Given the description of an element on the screen output the (x, y) to click on. 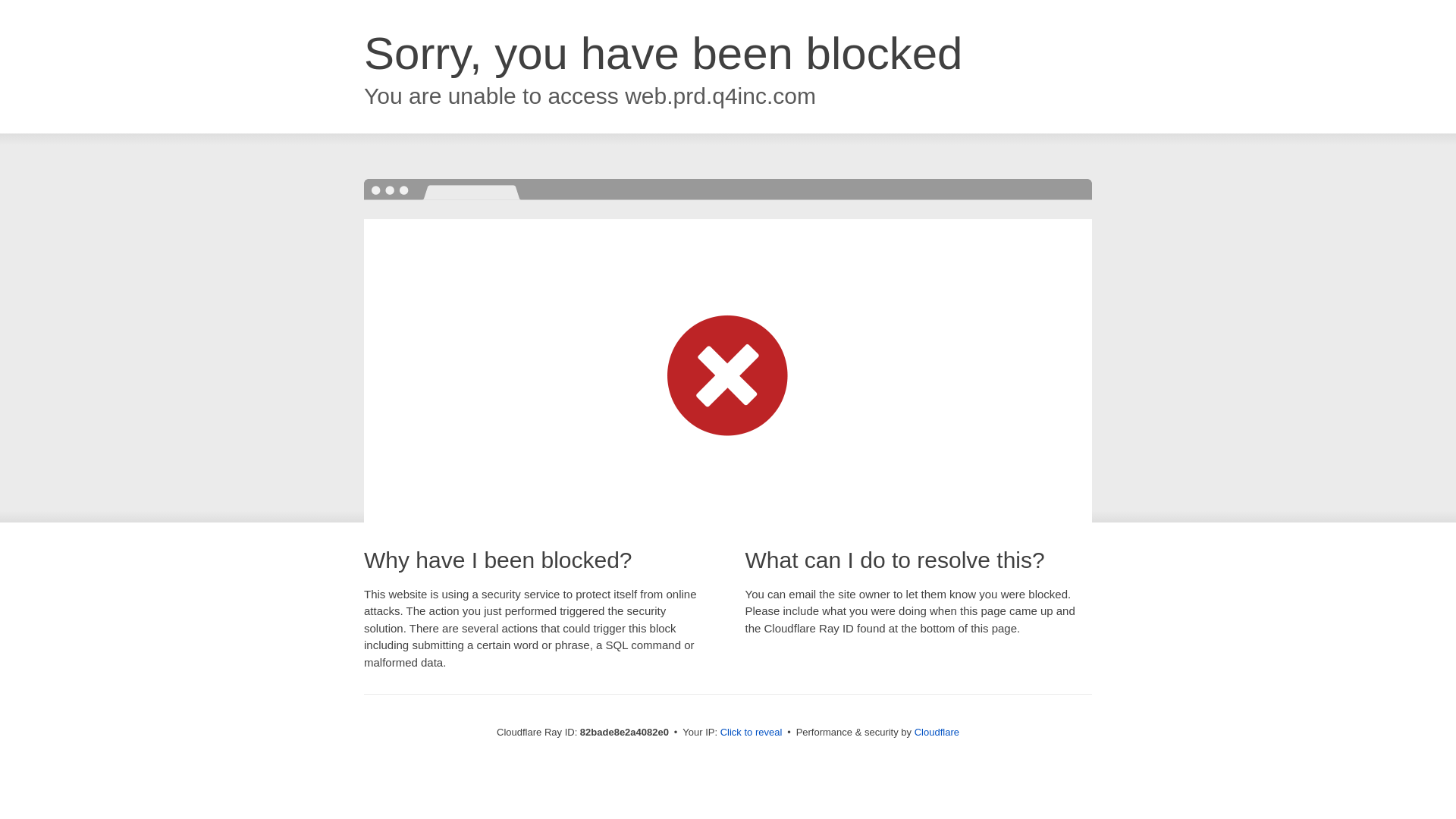
Click to reveal Element type: text (751, 732)
Cloudflare Element type: text (936, 731)
